Given the description of an element on the screen output the (x, y) to click on. 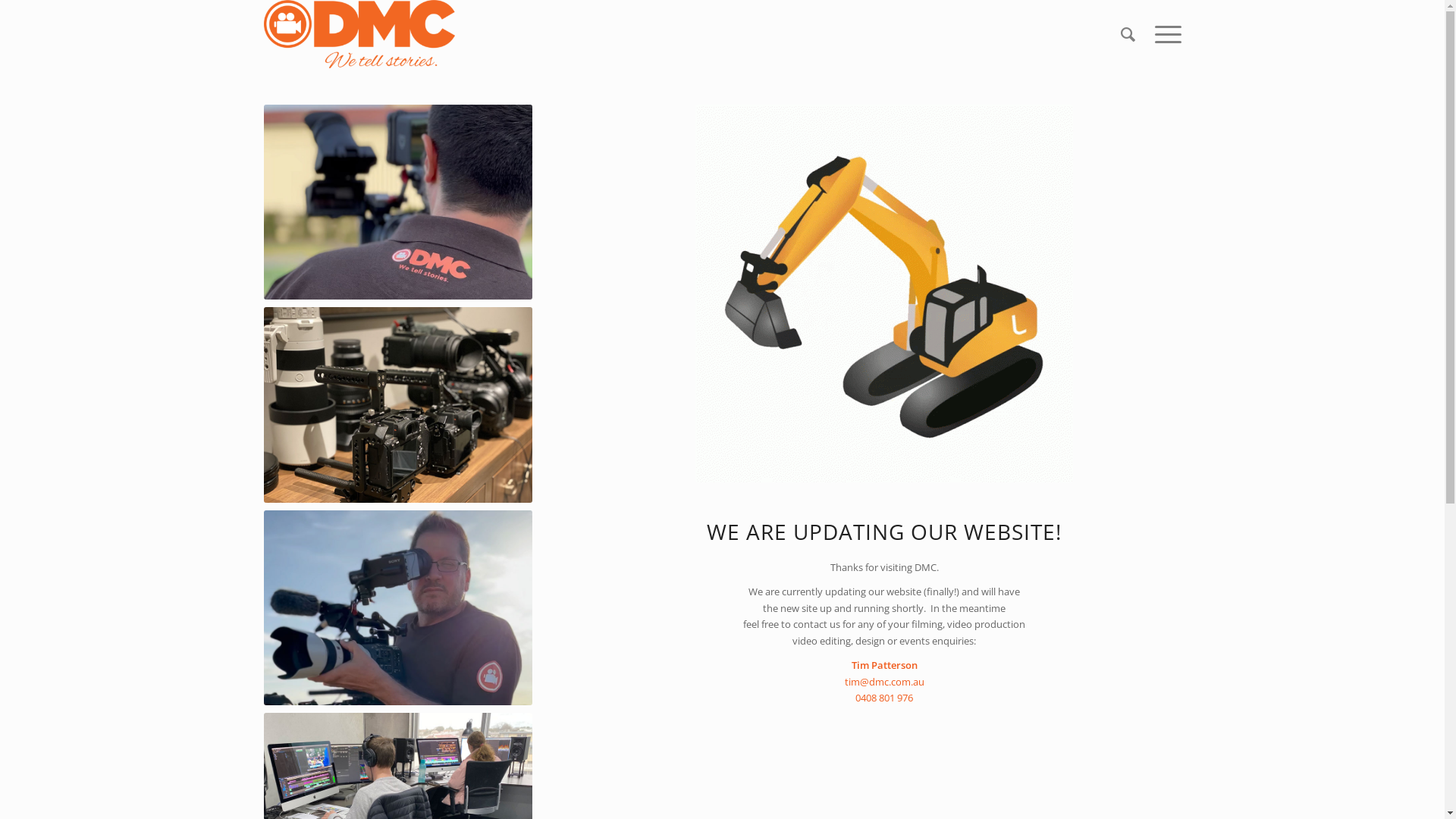
image6 Element type: hover (398, 404)
image-1 Element type: hover (398, 607)
image5 Element type: hover (398, 201)
construction-construction-work Element type: hover (884, 293)
tim@dmc.com.au Element type: text (884, 681)
0408 801 976 Element type: text (884, 697)
